Given the description of an element on the screen output the (x, y) to click on. 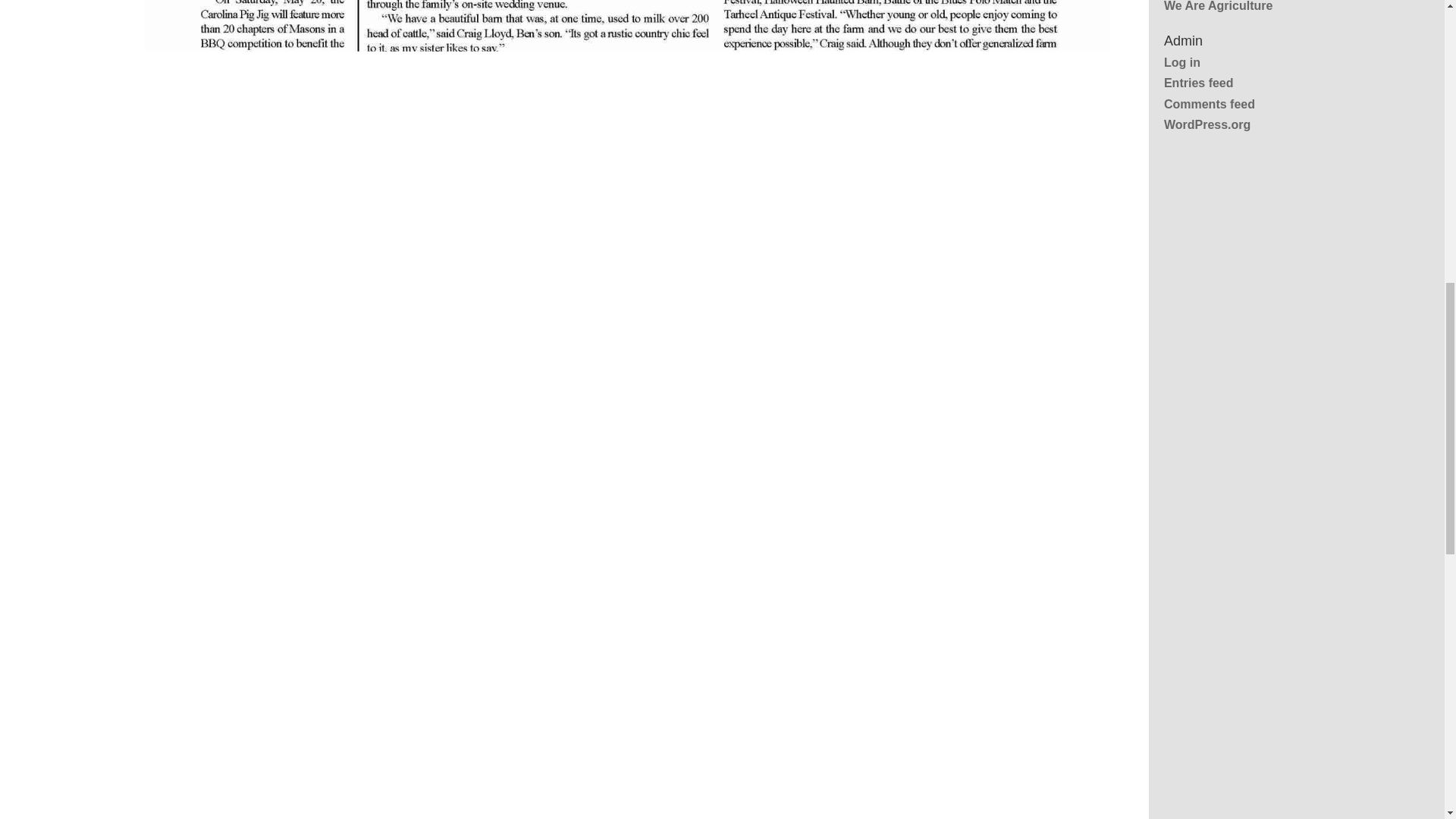
Log in (1181, 62)
We Are Agriculture (1217, 6)
